Given the description of an element on the screen output the (x, y) to click on. 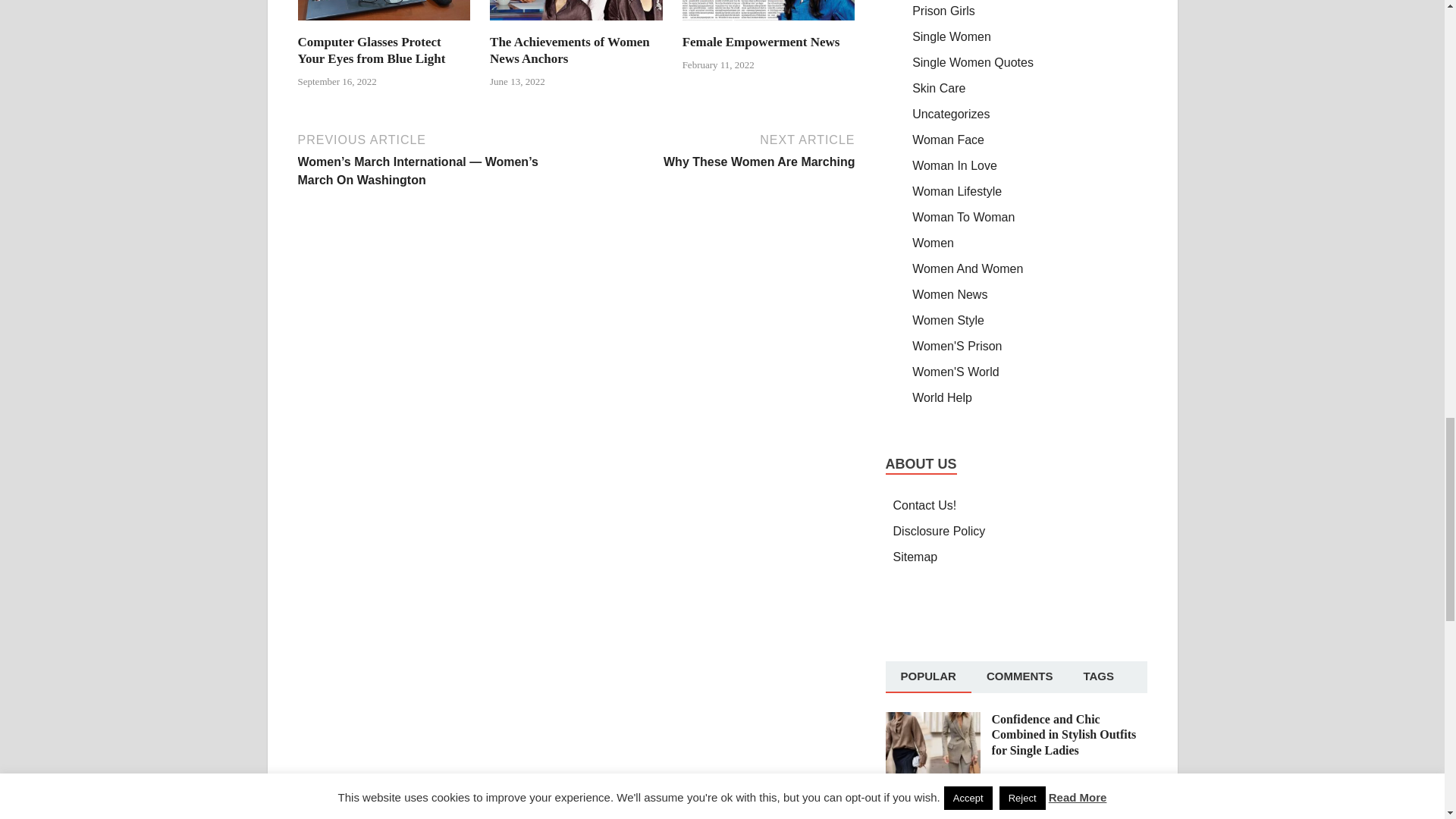
Female Empowerment News (769, 24)
Computer Glasses Protect Your Eyes from Blue Light (371, 50)
Computer Glasses Protect Your Eyes from Blue Light (383, 24)
Female Empowerment News (761, 42)
The Achievements of Women News Anchors (569, 50)
The Achievements of Women News Anchors (575, 24)
